Given the description of an element on the screen output the (x, y) to click on. 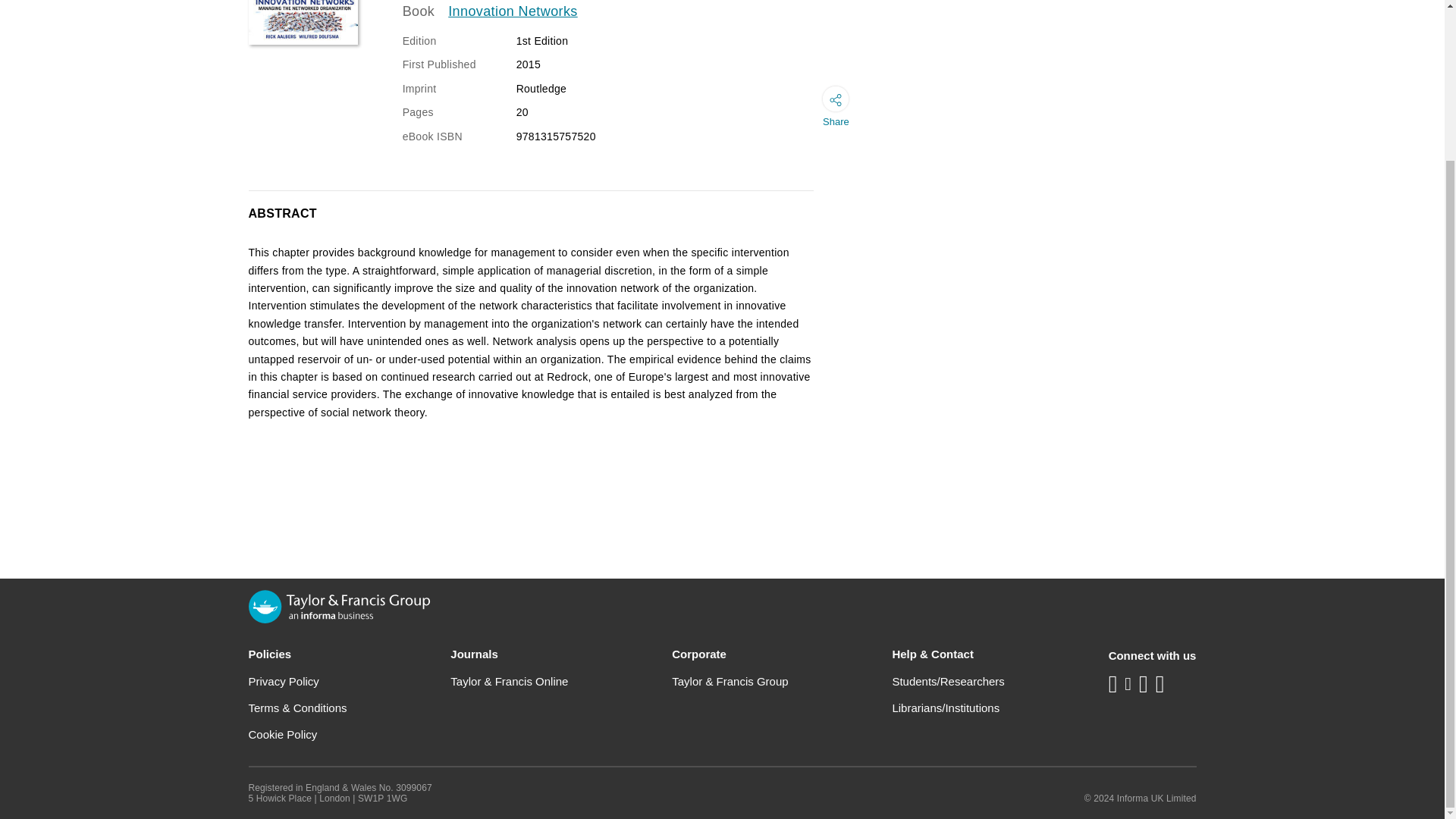
Privacy Policy (283, 681)
Cookie Policy (282, 734)
Innovation Networks (513, 11)
